Given the description of an element on the screen output the (x, y) to click on. 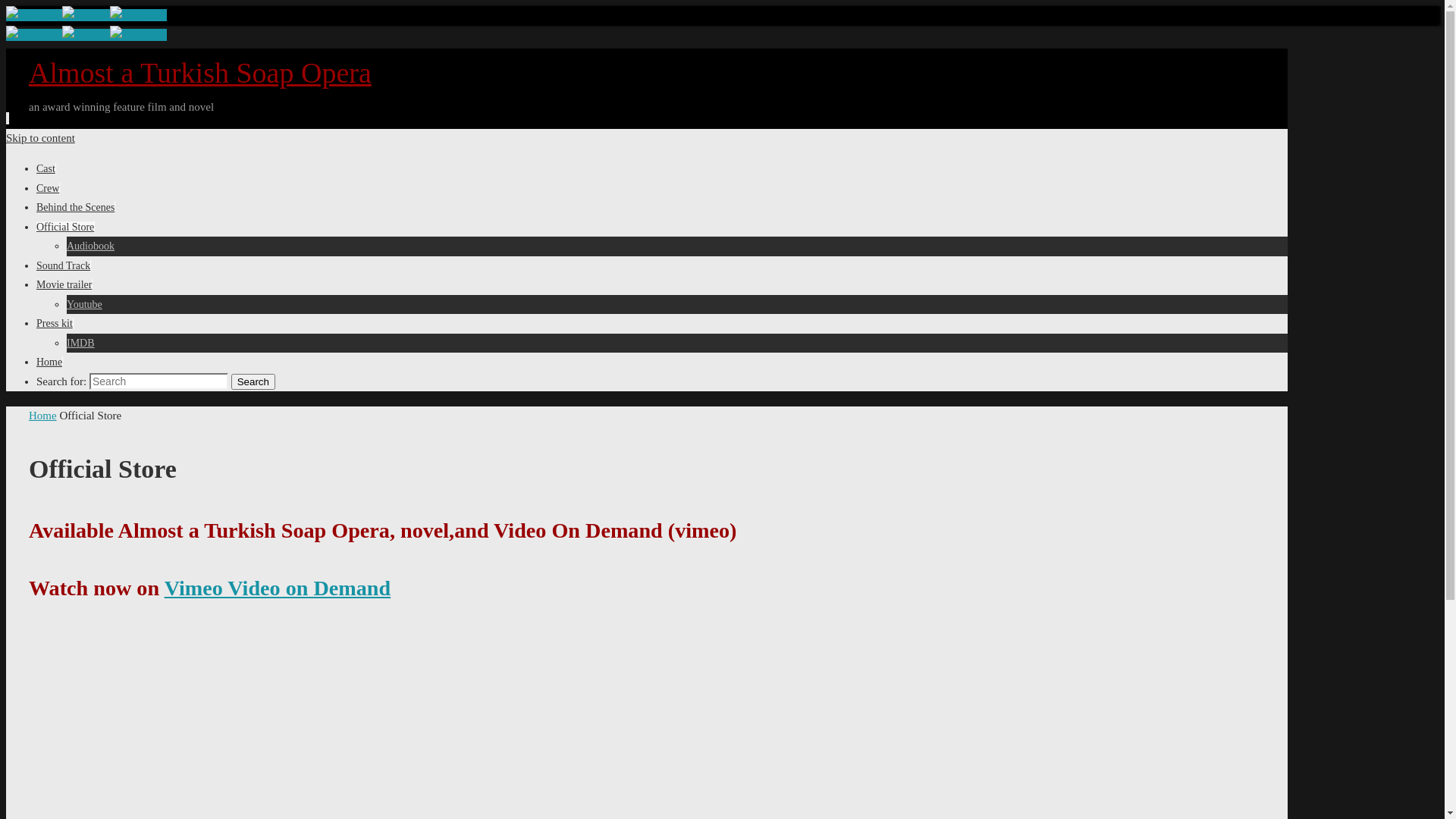
IMDB Element type: text (80, 342)
Youtube Element type: hover (34, 15)
Youtube Element type: text (84, 304)
Facebook Element type: hover (137, 34)
Skip to content Element type: text (40, 137)
  Element type: text (7, 118)
Vimeo Video on Demand Element type: text (277, 587)
Tweet Element type: hover (85, 34)
Press kit Element type: text (54, 323)
Home Element type: text (49, 361)
Behind the Scenes Element type: text (75, 207)
Facebook Element type: hover (137, 15)
Almost a Turkish Soap Opera Element type: text (199, 72)
Movie trailer Element type: text (63, 284)
Home Element type: text (42, 415)
Official Store Element type: text (65, 226)
Search Element type: text (253, 381)
Audiobook Element type: text (90, 245)
Crew Element type: text (47, 187)
Sound Track Element type: text (63, 264)
Youtube Element type: hover (34, 34)
Cast Element type: text (45, 168)
Tweet Element type: hover (85, 15)
